Given the description of an element on the screen output the (x, y) to click on. 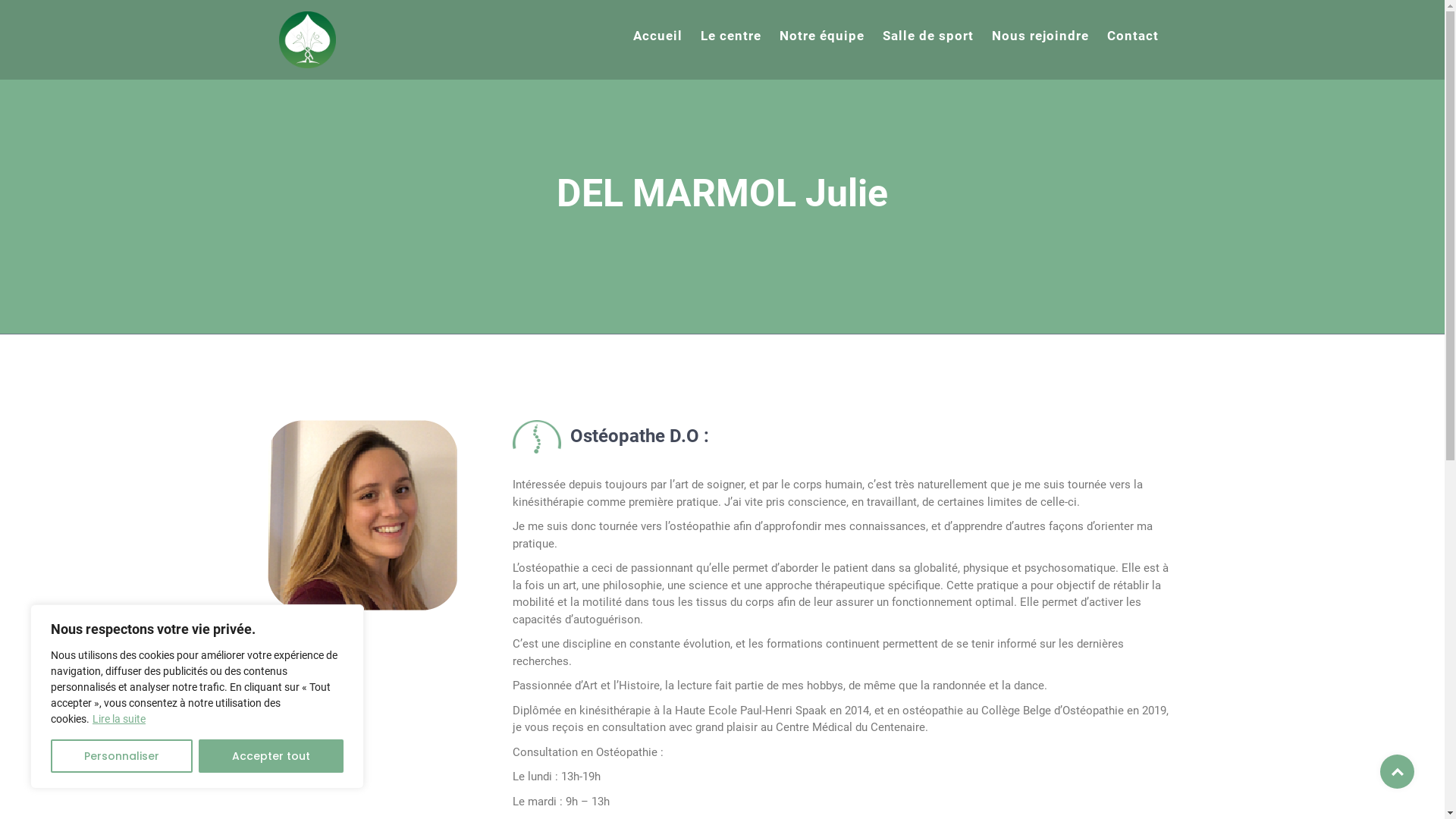
Le centre Element type: text (730, 35)
Salle de sport Element type: text (928, 35)
Search Element type: text (102, 18)
Contact Element type: text (1132, 35)
Accepter tout Element type: text (270, 755)
Personnaliser Element type: text (121, 755)
Nous rejoindre Element type: text (1040, 35)
Accueil Element type: text (656, 35)
Se connecter Element type: text (387, 271)
Lire la suite Element type: text (118, 718)
